Given the description of an element on the screen output the (x, y) to click on. 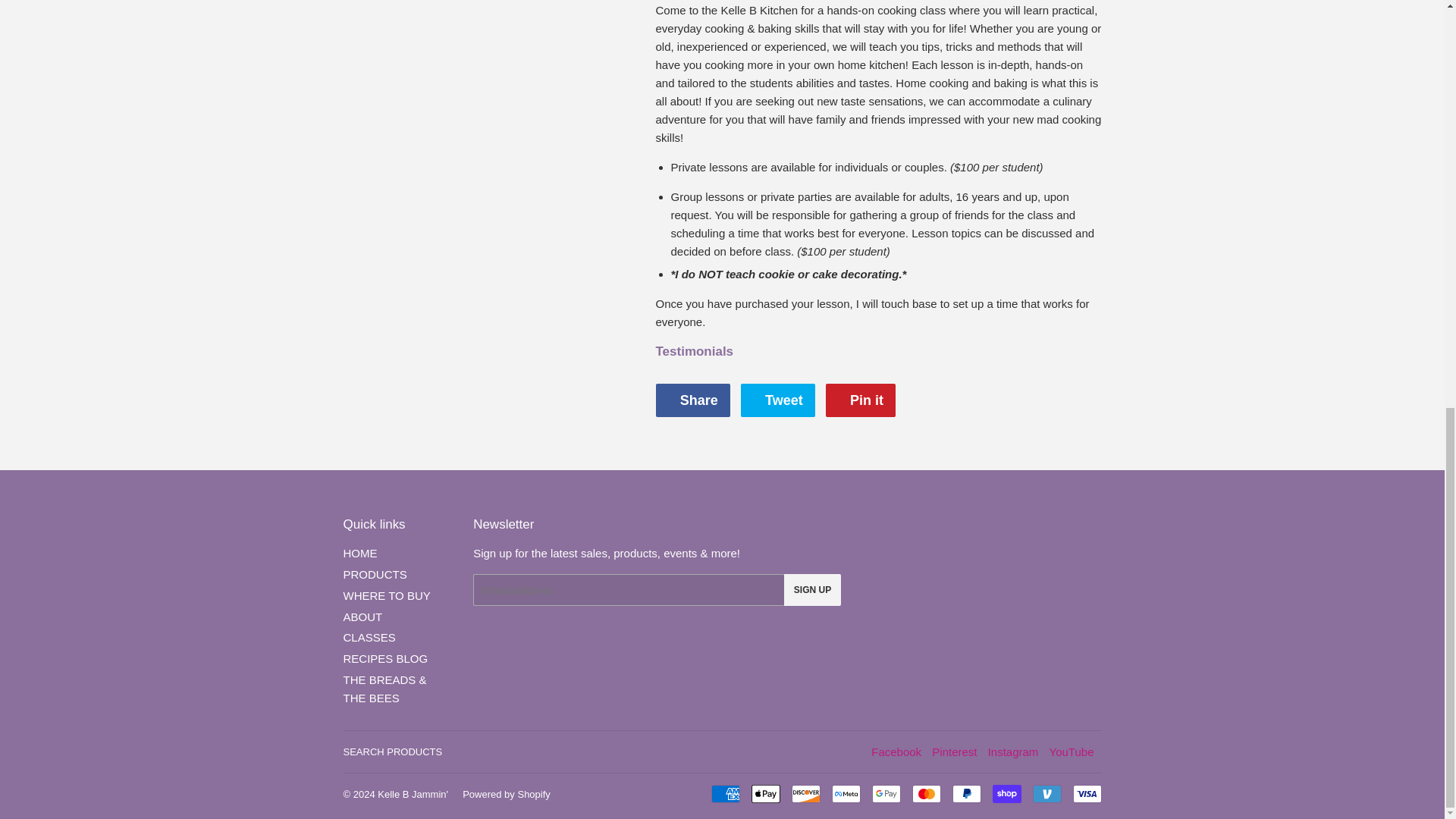
Apple Pay (764, 793)
PayPal (966, 793)
Venmo (1046, 793)
American Express (725, 793)
Pin on Pinterest (860, 400)
Google Pay (886, 793)
Mastercard (925, 793)
Share on Facebook (692, 400)
Tweet on Twitter (778, 400)
Meta Pay (845, 793)
Visa (1085, 793)
Discover (806, 793)
Shop Pay (1005, 793)
